Given the description of an element on the screen output the (x, y) to click on. 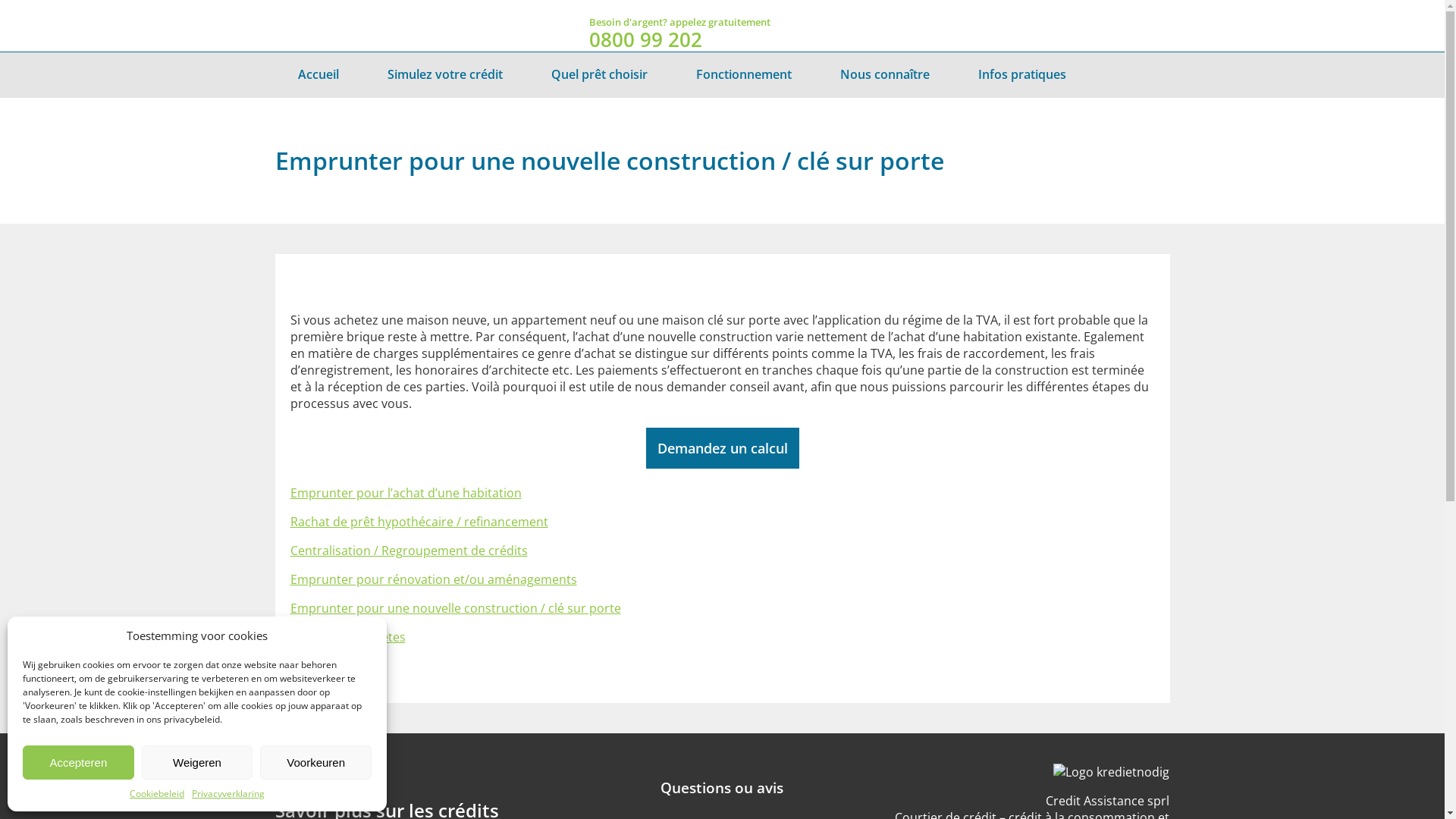
Infos pratiques Element type: text (1021, 74)
Weigeren Element type: text (197, 762)
Voorkeuren Element type: text (315, 762)
Accepteren Element type: text (78, 762)
Accueil Element type: text (317, 74)
Demandez un calcul Element type: text (722, 447)
Cookiebeleid Element type: text (156, 793)
Fonctionnement Element type: text (743, 74)
Privacyverklaring Element type: text (227, 793)
